Given the description of an element on the screen output the (x, y) to click on. 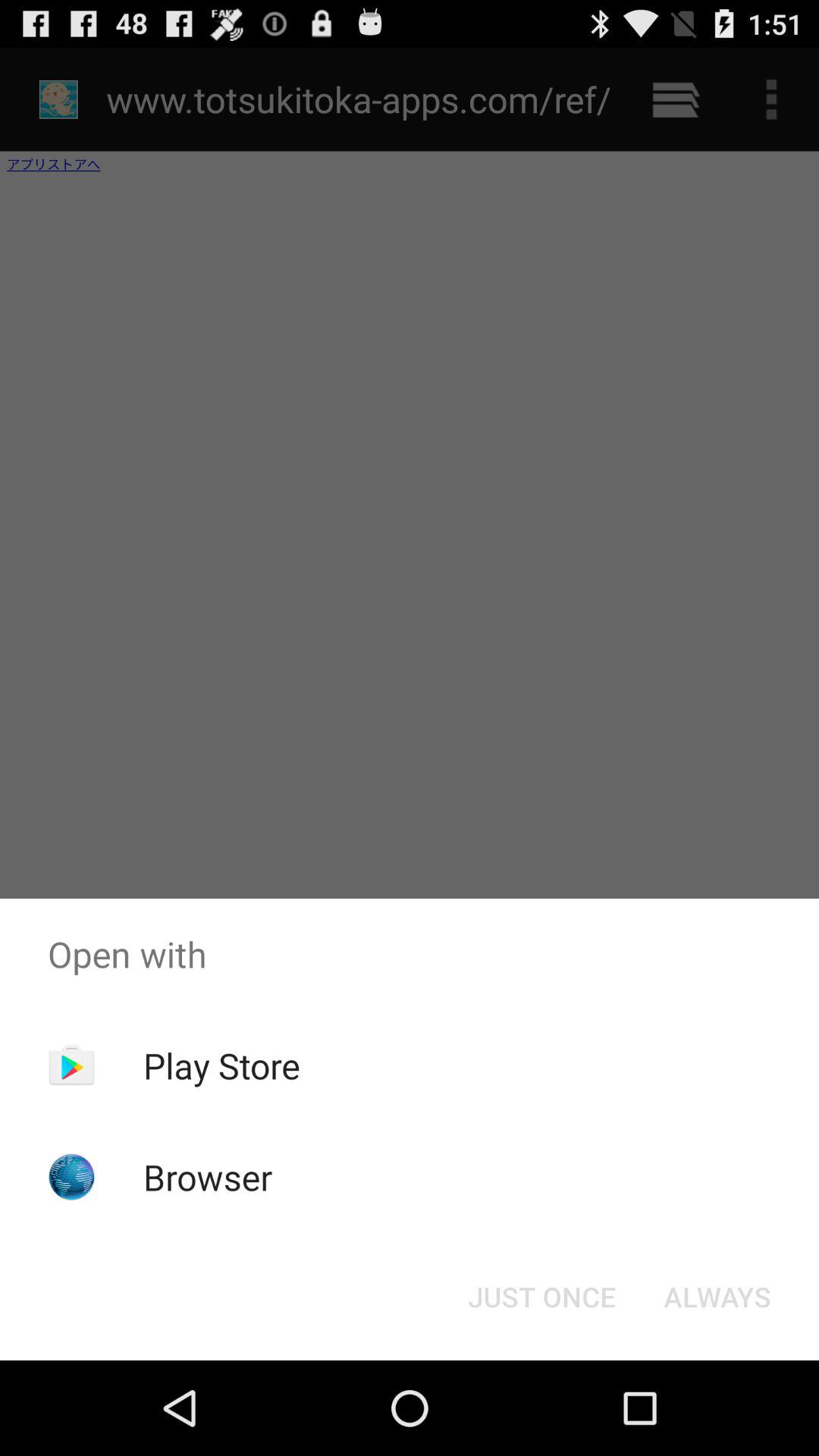
tap the icon to the left of the always (541, 1296)
